Given the description of an element on the screen output the (x, y) to click on. 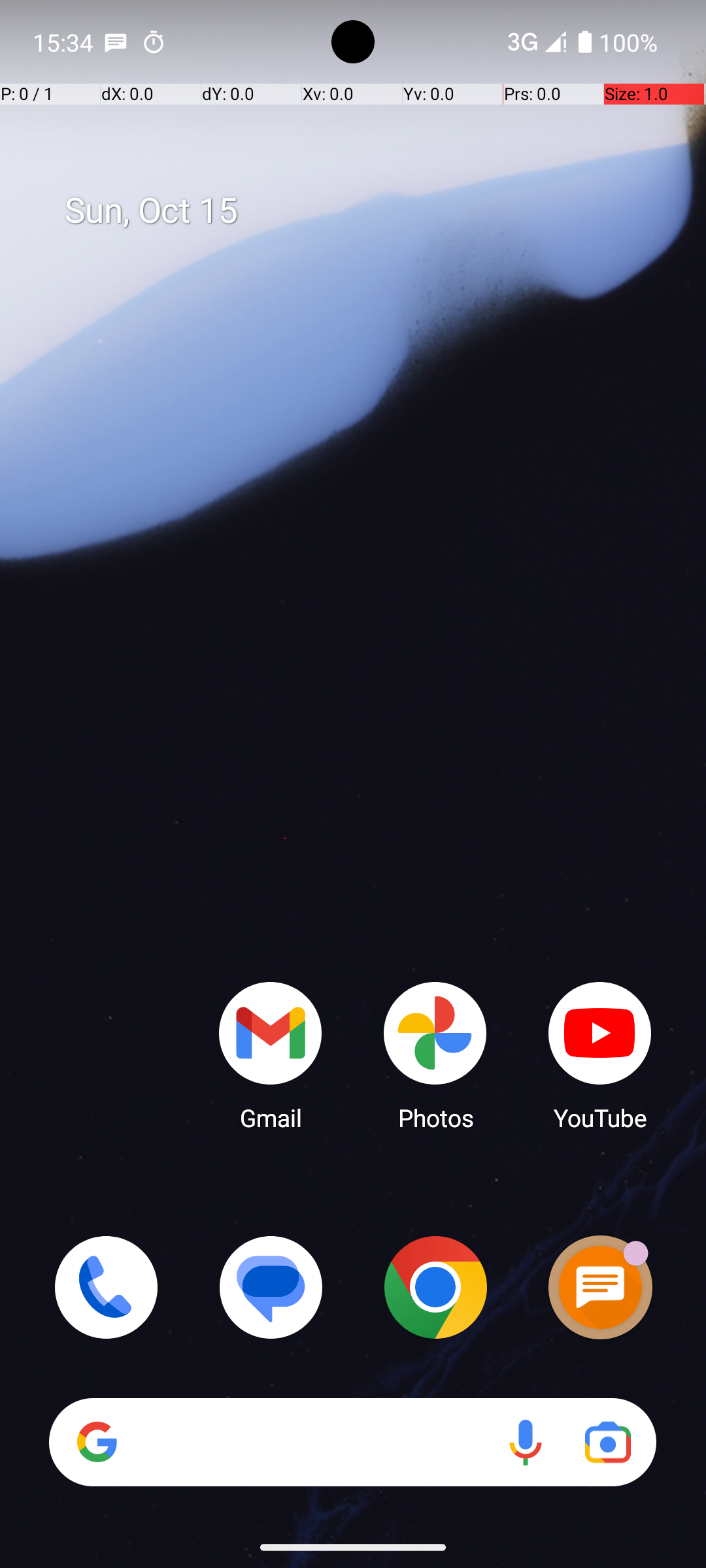
SMS Messenger Element type: android.widget.TextView (599, 1287)
